Given the description of an element on the screen output the (x, y) to click on. 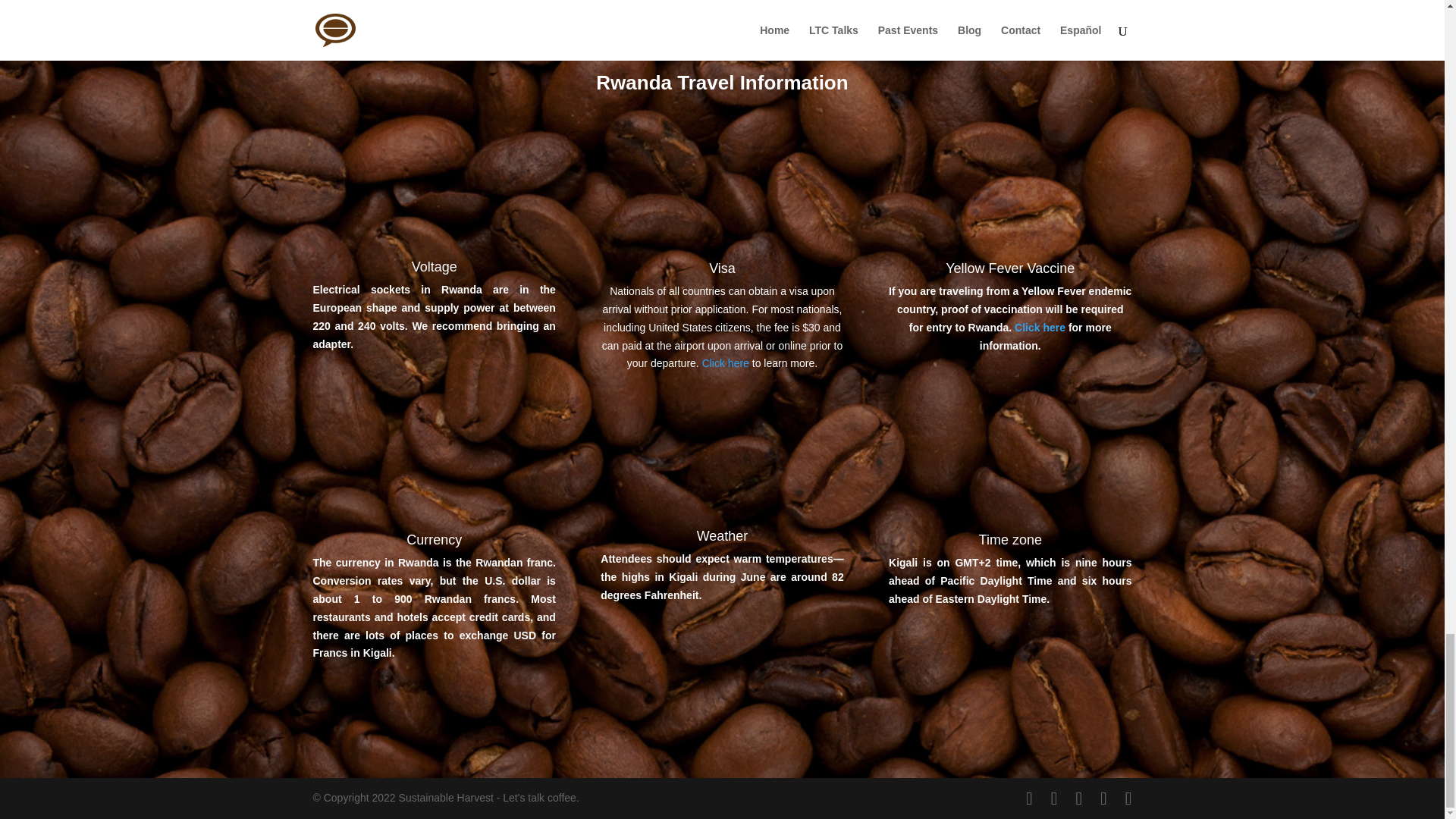
Click here (725, 363)
Click here (1039, 327)
